Given the description of an element on the screen output the (x, y) to click on. 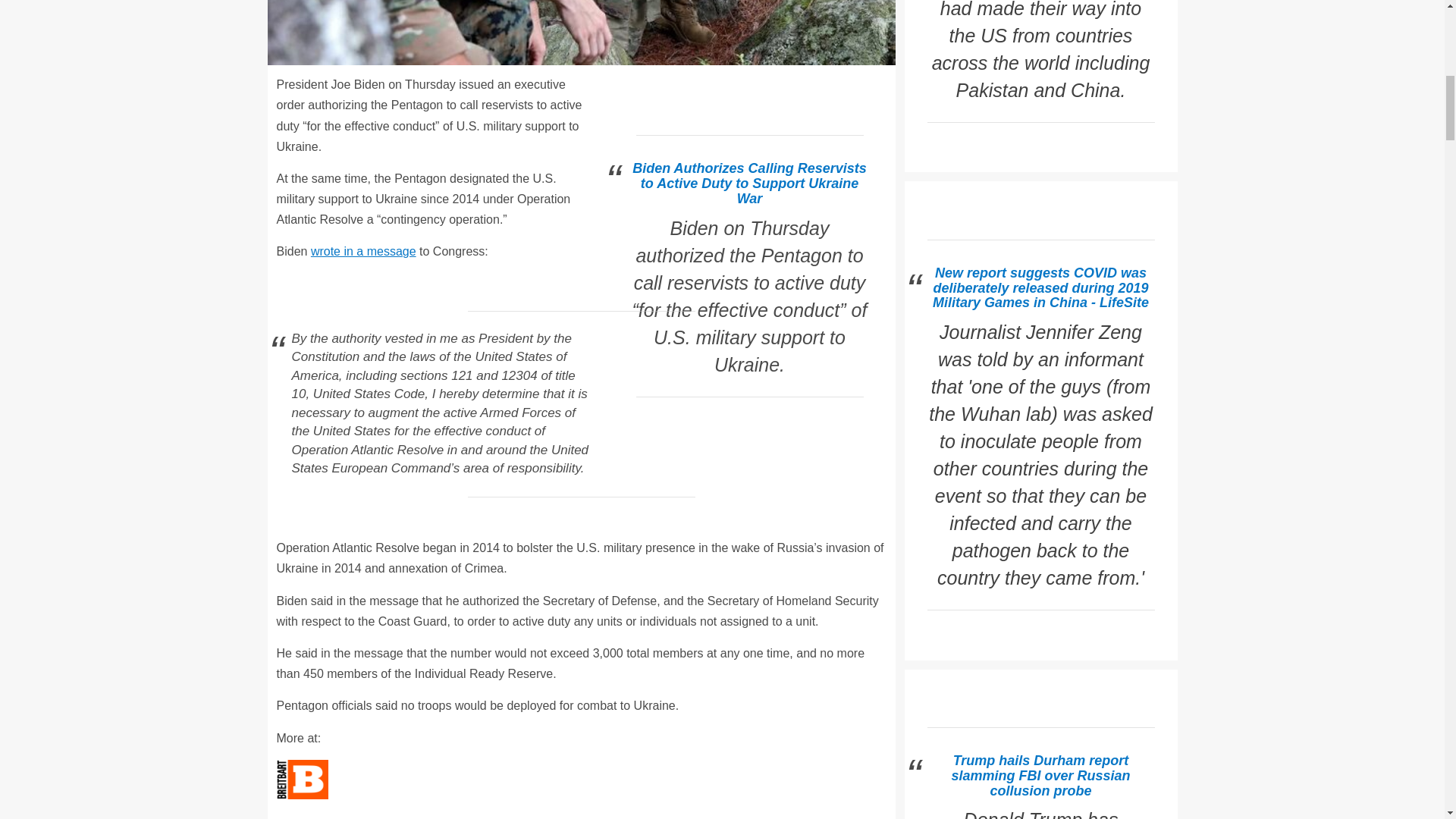
wrote in a message (363, 250)
